Given the description of an element on the screen output the (x, y) to click on. 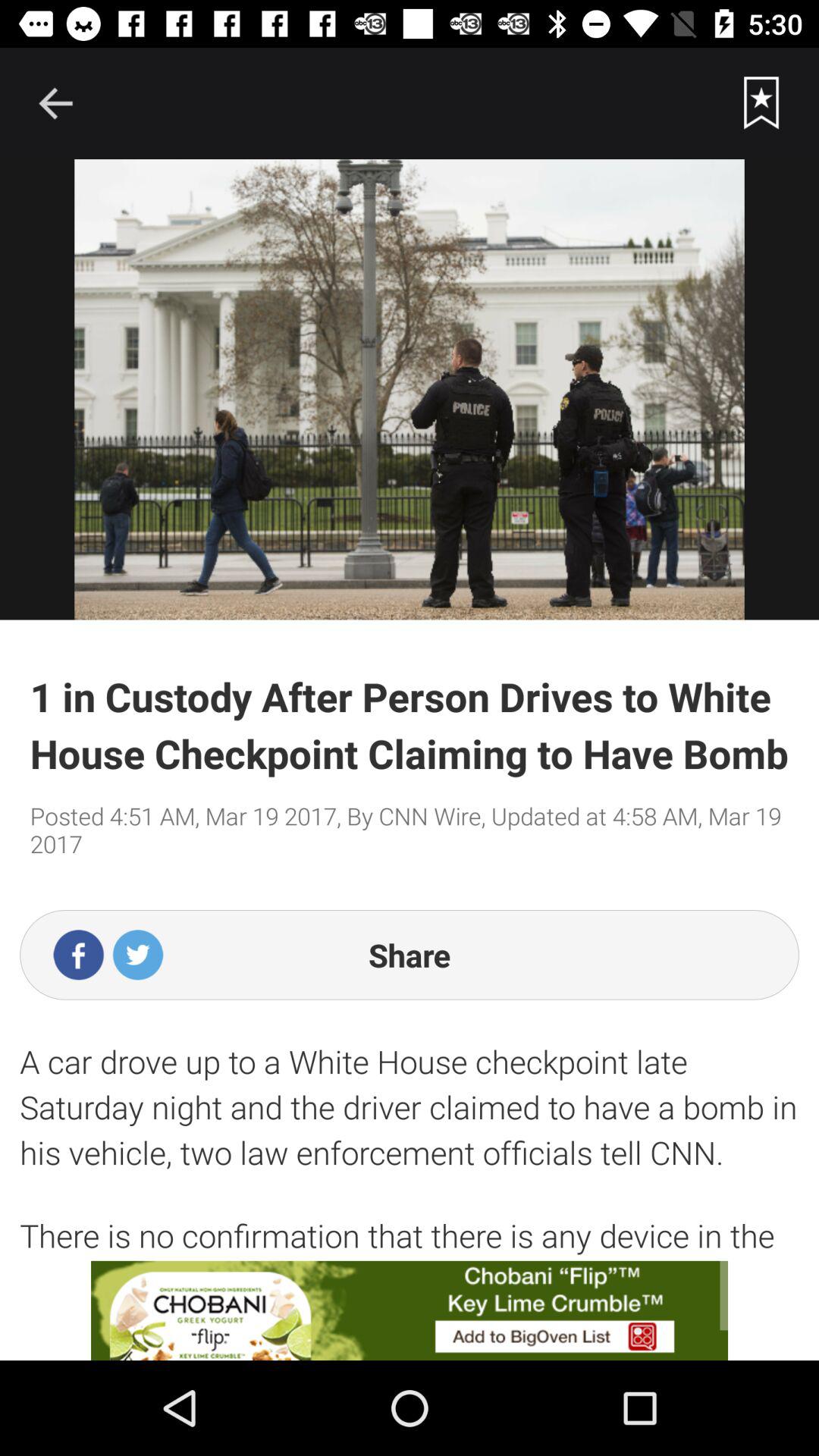
see advertisement (409, 1310)
